Given the description of an element on the screen output the (x, y) to click on. 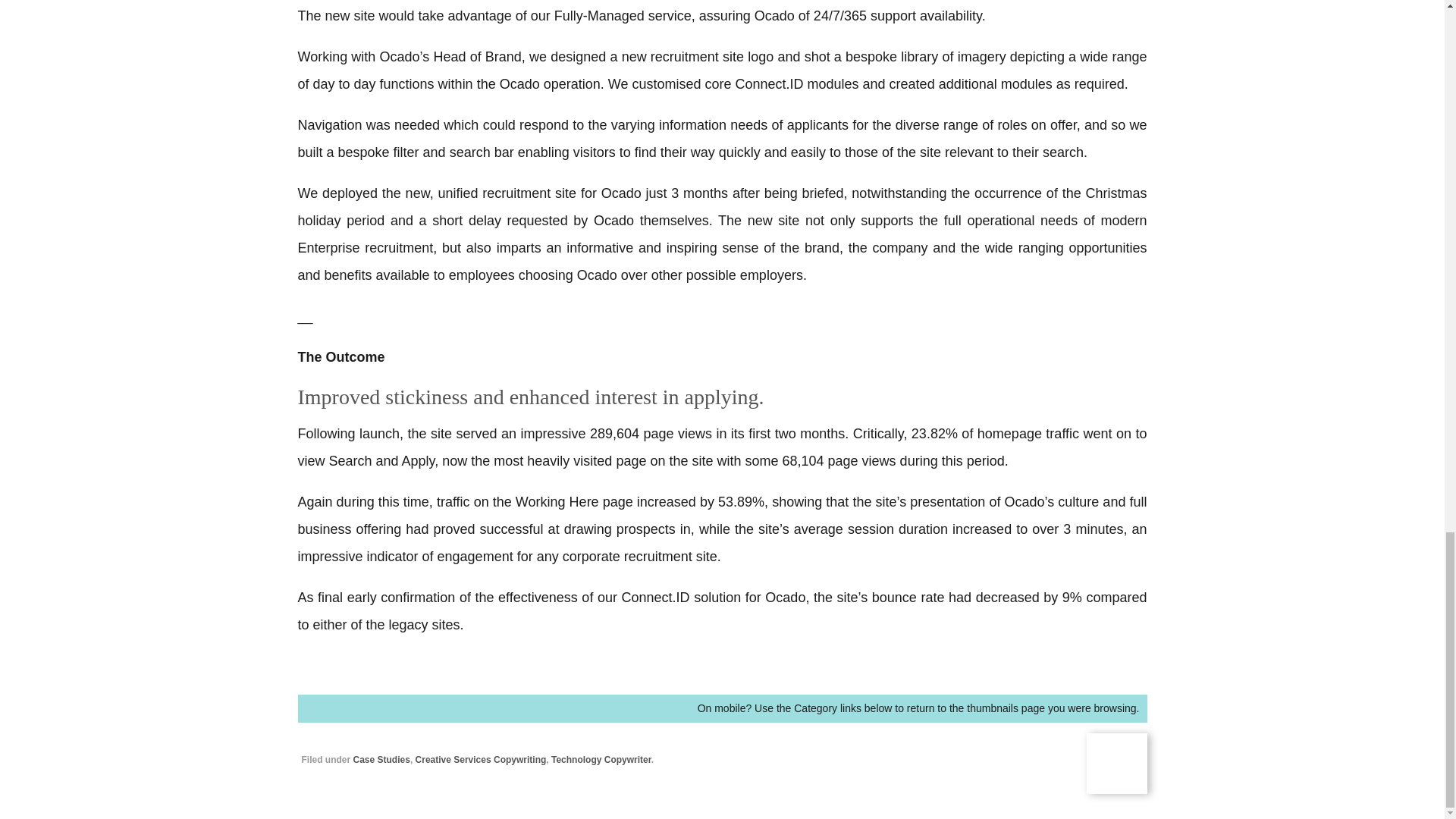
Creative Services Copywriting (480, 759)
Case Studies (381, 759)
Technology Copywriter (600, 759)
